Given the description of an element on the screen output the (x, y) to click on. 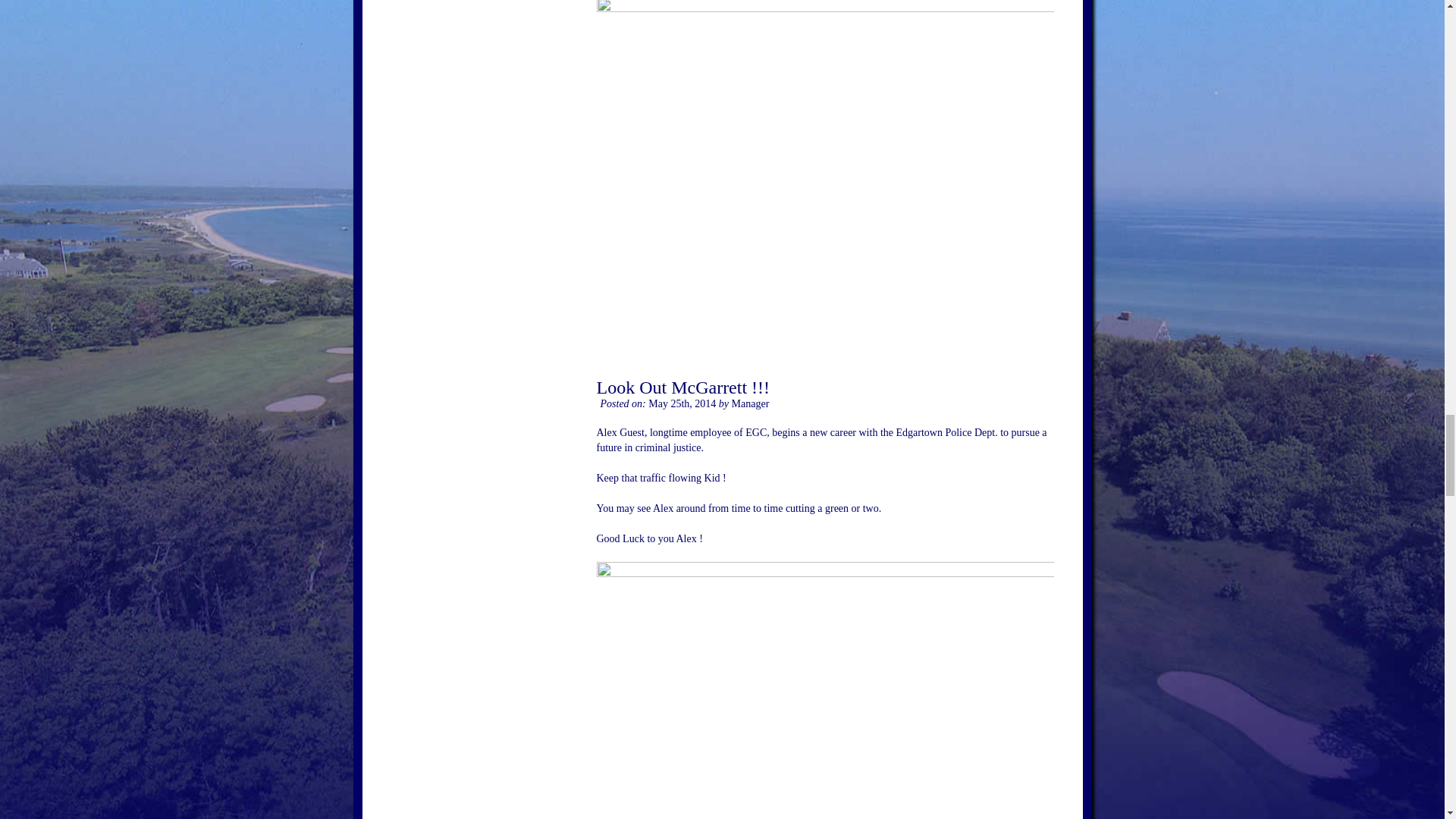
DSCN0408 2 (823, 690)
